Given the description of an element on the screen output the (x, y) to click on. 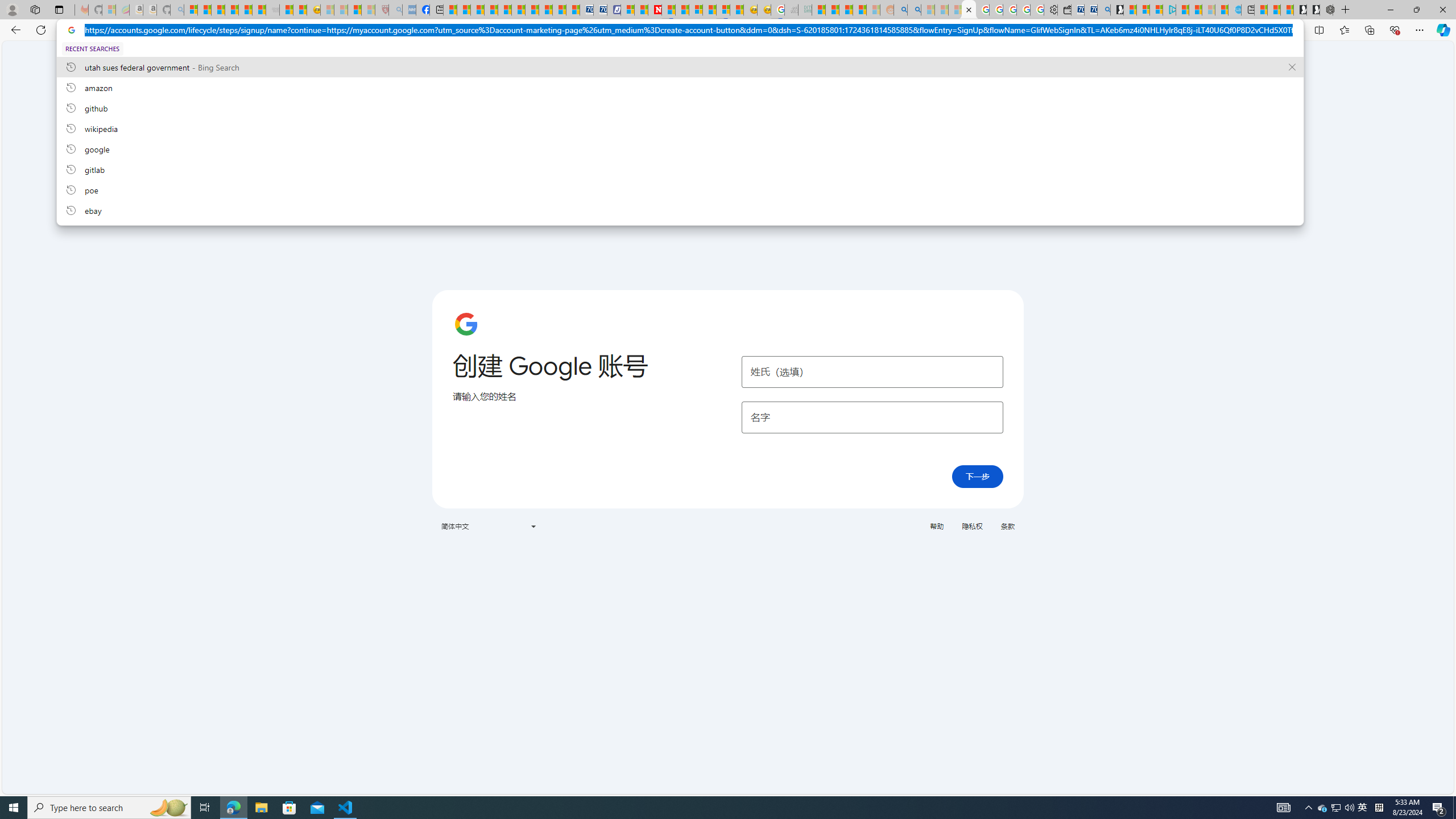
Climate Damage Becomes Too Severe To Reverse (490, 9)
poe, recent searches from history (679, 189)
Student Loan Update: Forgiveness Program Ends This Month (858, 9)
